Given the description of an element on the screen output the (x, y) to click on. 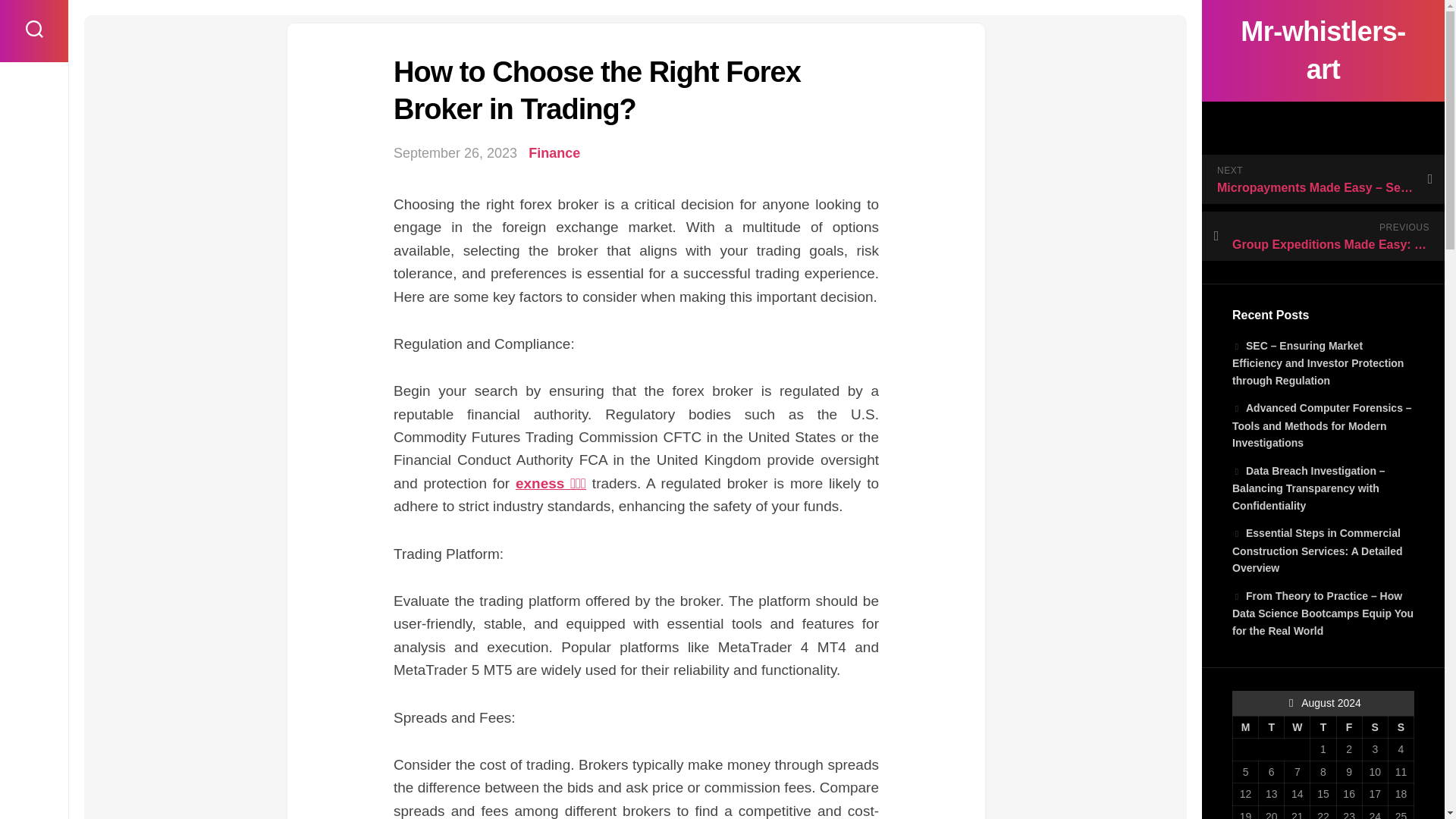
Thursday (1323, 726)
Monday (1246, 726)
Wednesday (1297, 726)
Friday (1348, 726)
Mr-whistlers-art (1322, 50)
Saturday (1374, 726)
Tuesday (1271, 726)
Sunday (1400, 726)
